Given the description of an element on the screen output the (x, y) to click on. 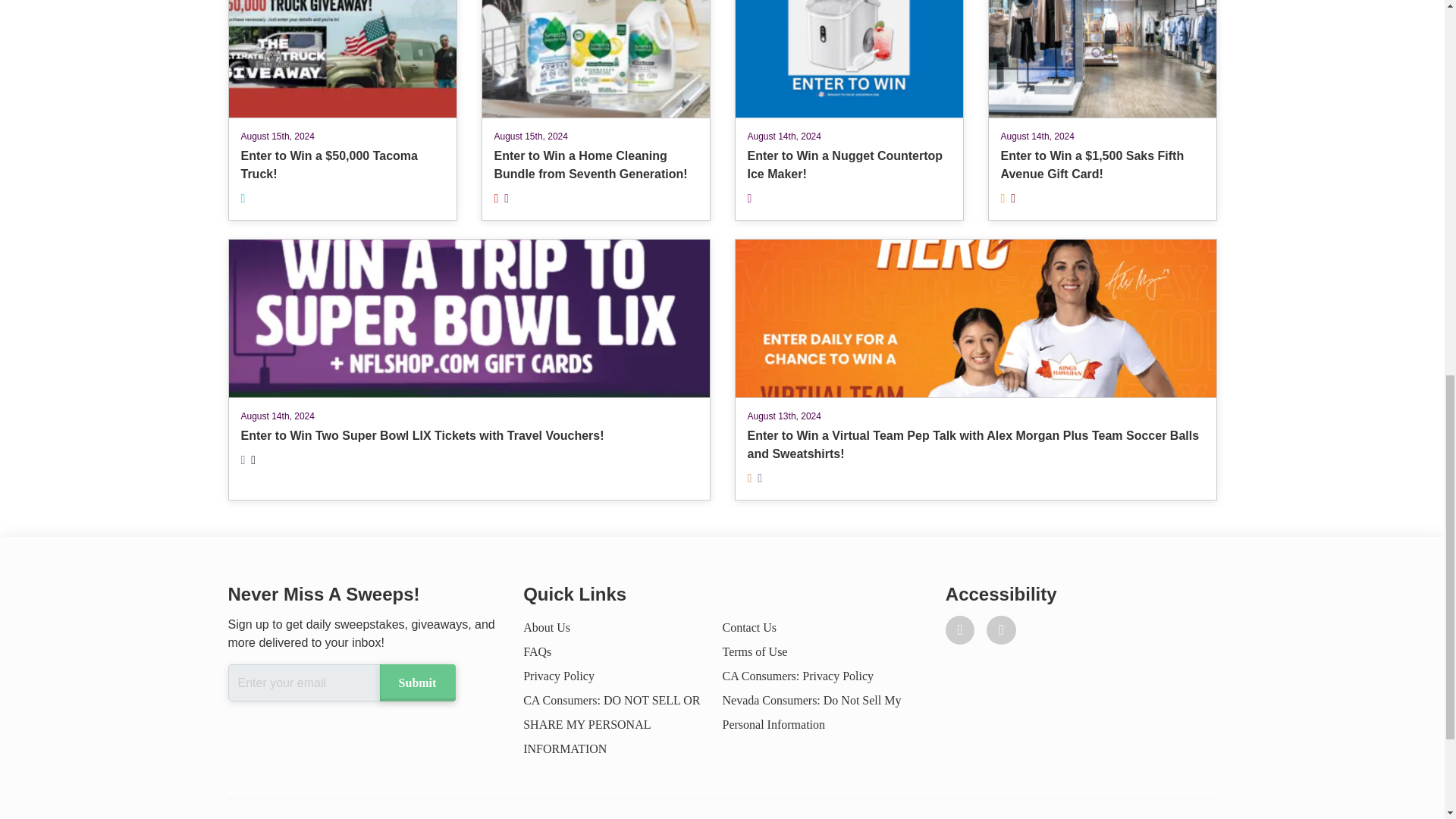
CA Consumers: Privacy Policy (797, 675)
Contact Us (749, 626)
Submit (416, 682)
Privacy Policy (558, 675)
Terms of Use (754, 651)
FAQs (536, 651)
